Given the description of an element on the screen output the (x, y) to click on. 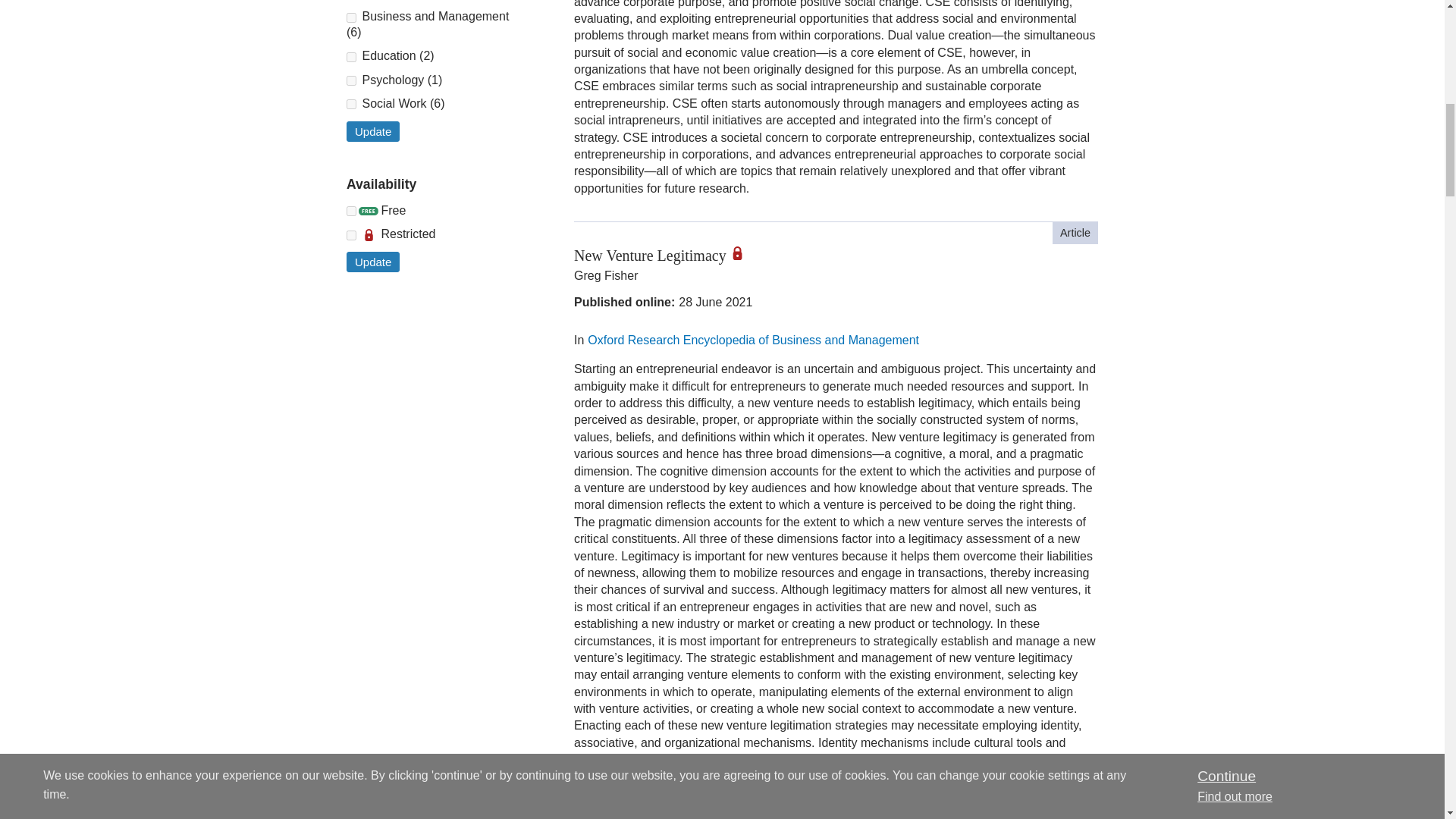
OREEDU (351, 57)
OREPSY (351, 80)
ORESW (351, 103)
locked (351, 235)
free (351, 211)
OREBUS (351, 17)
